Given the description of an element on the screen output the (x, y) to click on. 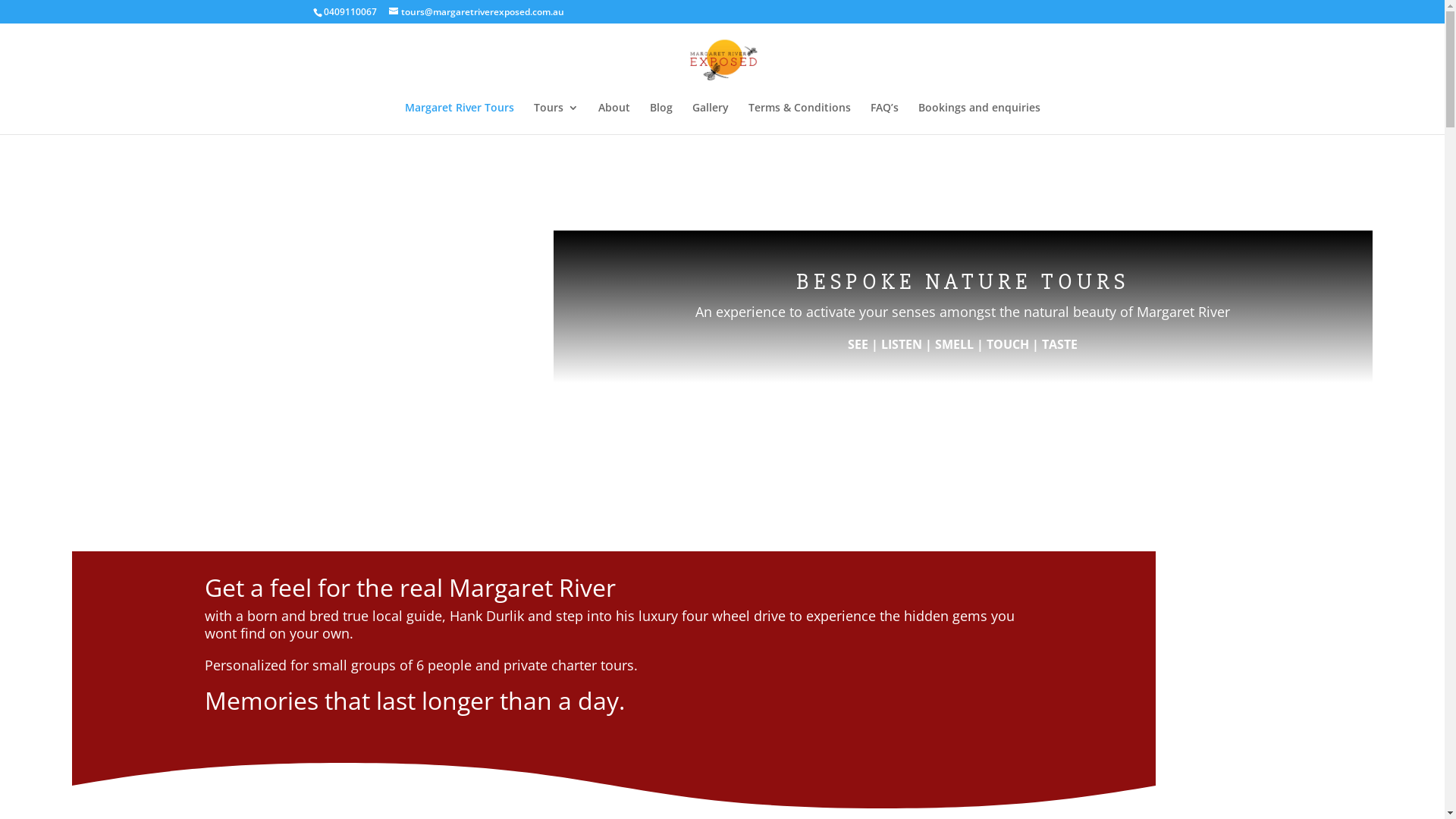
Gallery Element type: text (709, 118)
tours@margaretriverexposed.com.au Element type: text (475, 11)
About Element type: text (613, 118)
Margaret River Tours Element type: text (459, 118)
Bookings and enquiries Element type: text (978, 118)
Blog Element type: text (660, 118)
Tours Element type: text (555, 118)
Terms & Conditions Element type: text (798, 118)
